Given the description of an element on the screen output the (x, y) to click on. 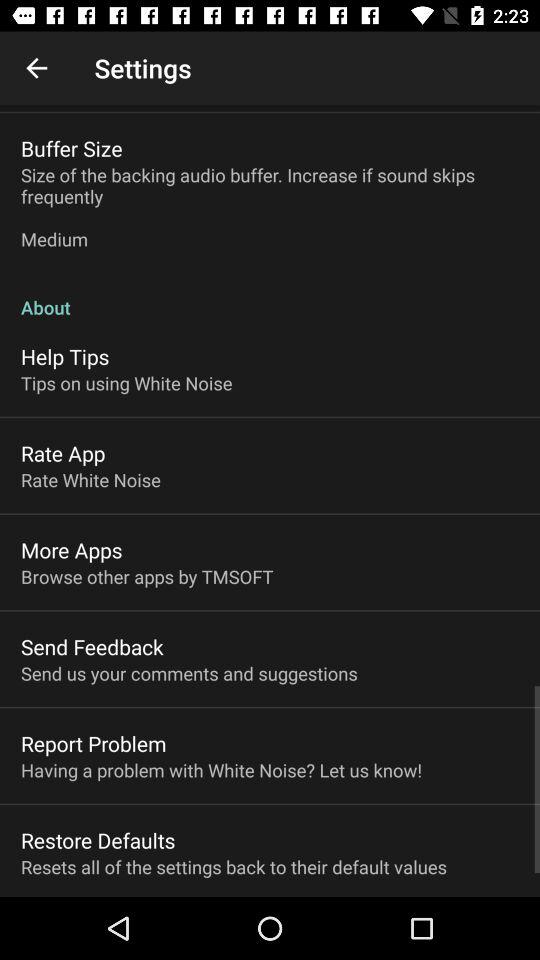
turn off the item below the rate white noise item (71, 549)
